Given the description of an element on the screen output the (x, y) to click on. 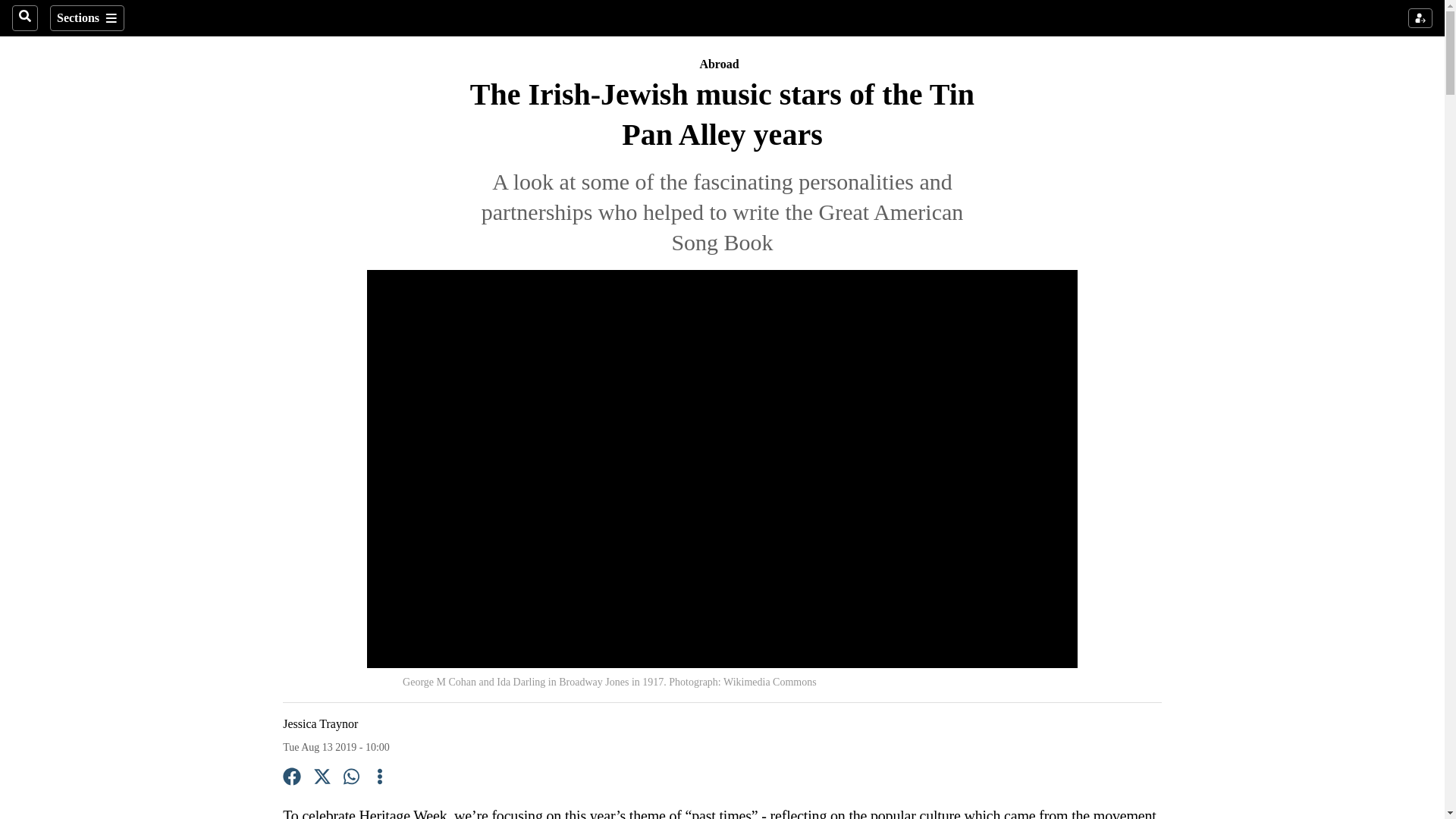
Sections (86, 17)
